Given the description of an element on the screen output the (x, y) to click on. 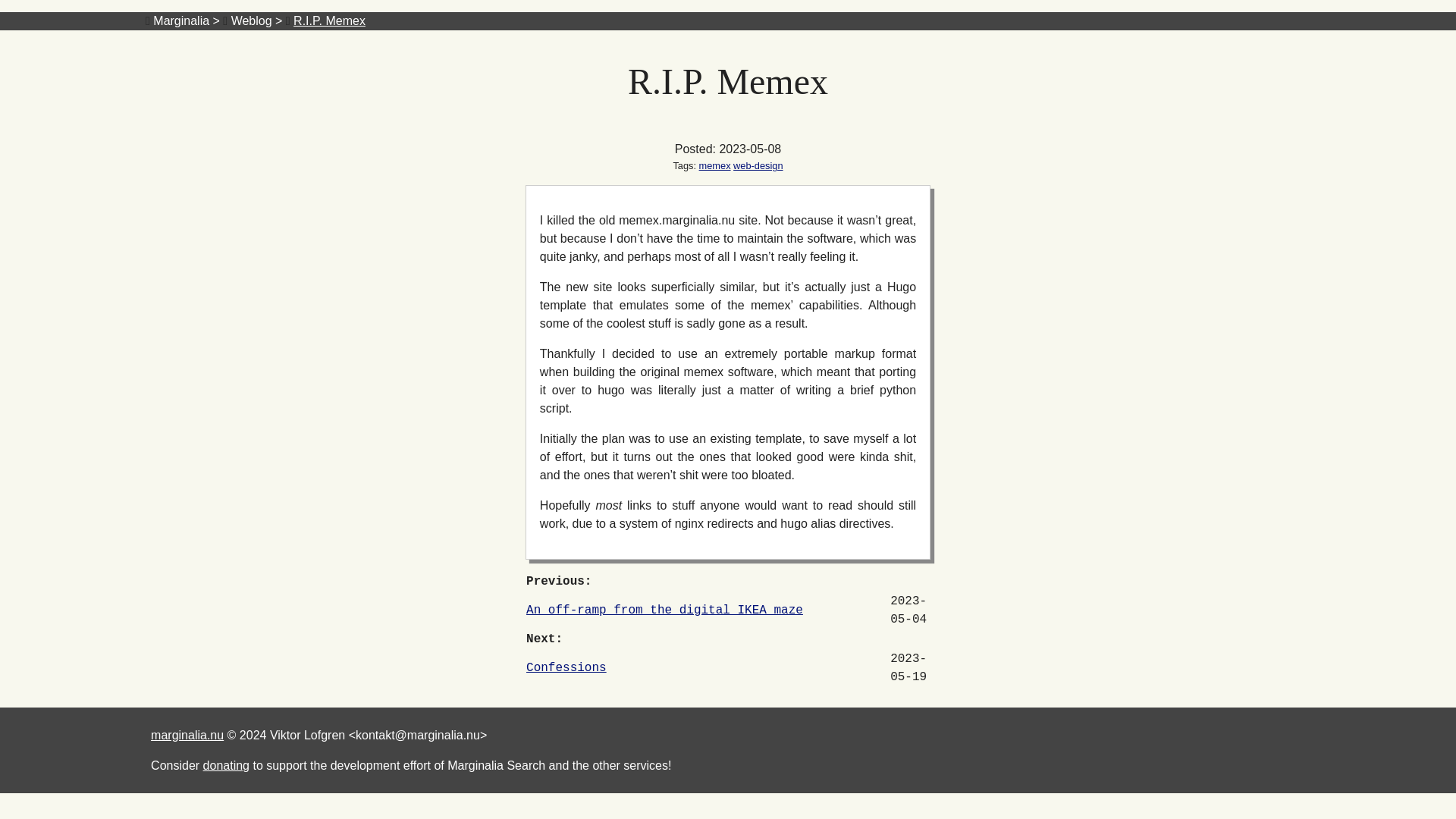
Marginalia (180, 20)
memex (714, 165)
R.I.P. Memex (329, 20)
An off-ramp from the digital IKEA maze (664, 610)
web-design (758, 165)
Weblog (251, 20)
Confessions (566, 667)
donating (225, 765)
marginalia.nu (187, 735)
